Given the description of an element on the screen output the (x, y) to click on. 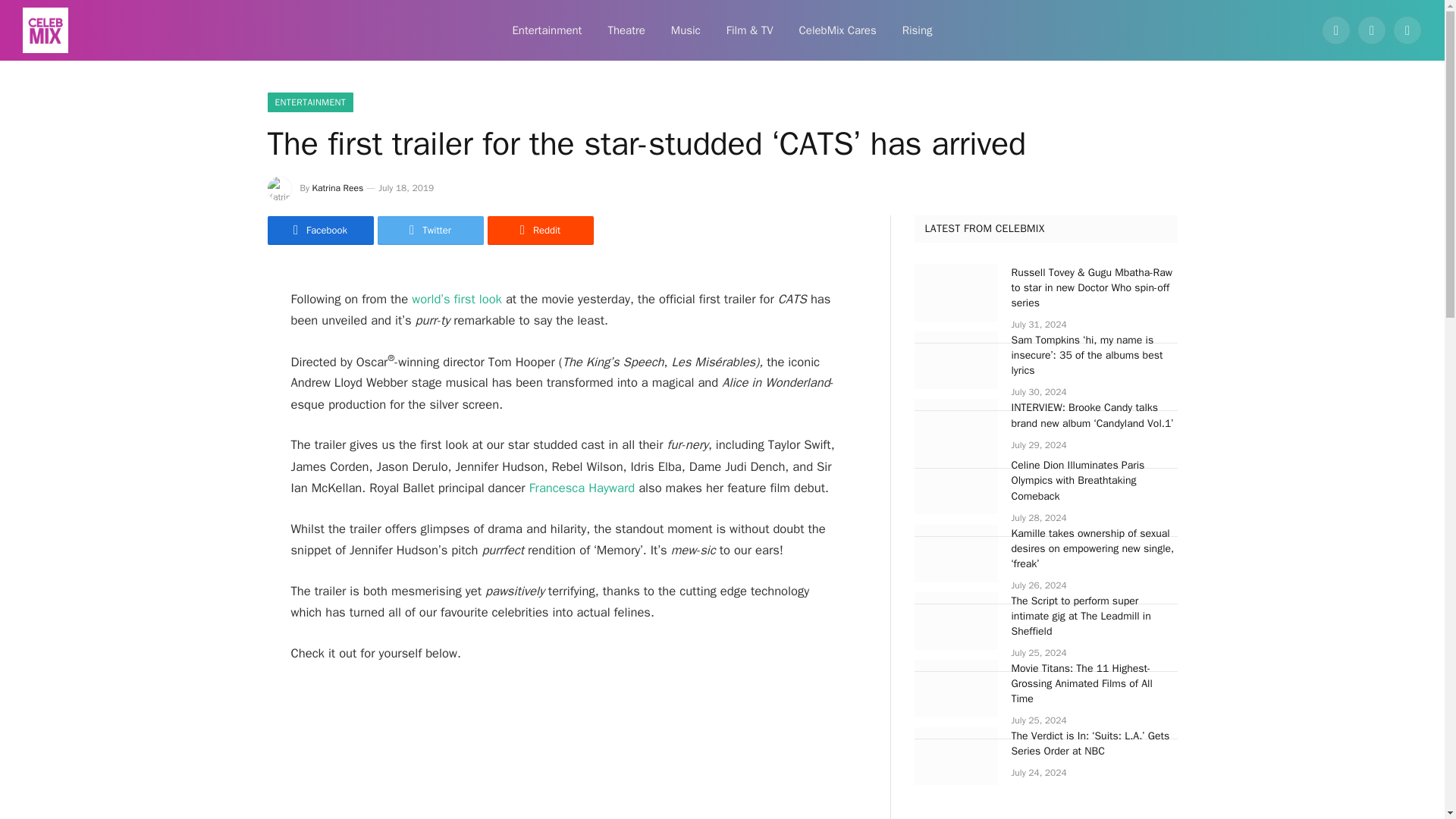
Posts by Katrina Rees (338, 187)
Share on Reddit (539, 230)
Twitter (430, 230)
Instagram (1407, 30)
CelebMix Cares (837, 30)
Rising (916, 30)
Facebook (319, 230)
Music (685, 30)
ENTERTAINMENT (309, 102)
Share on Facebook (319, 230)
Reddit (539, 230)
Facebook (1336, 30)
Francesca Hayward (581, 487)
Entertainment (546, 30)
Theatre (626, 30)
